Given the description of an element on the screen output the (x, y) to click on. 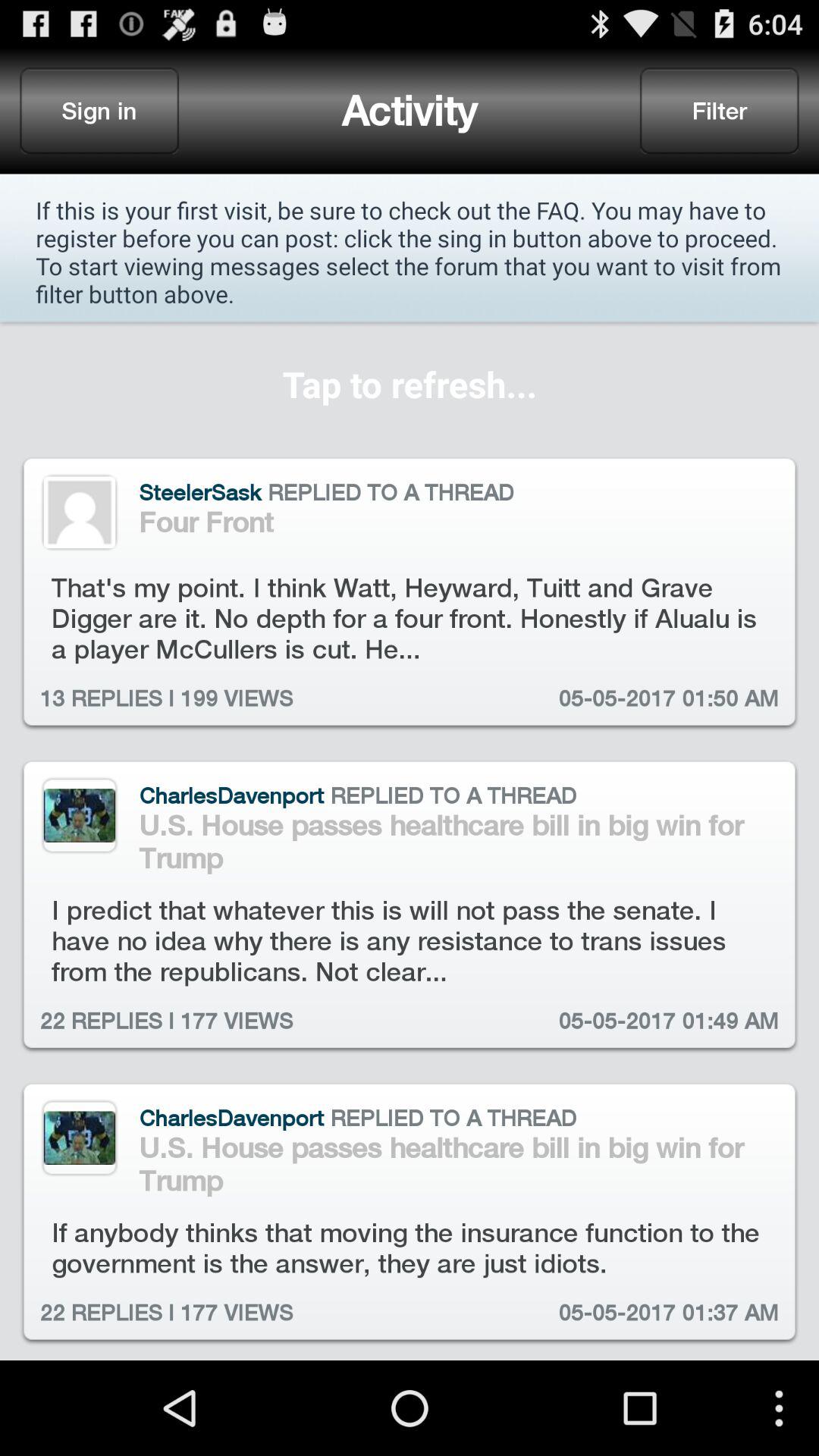
open charlesdavenport 's profile (79, 815)
